Given the description of an element on the screen output the (x, y) to click on. 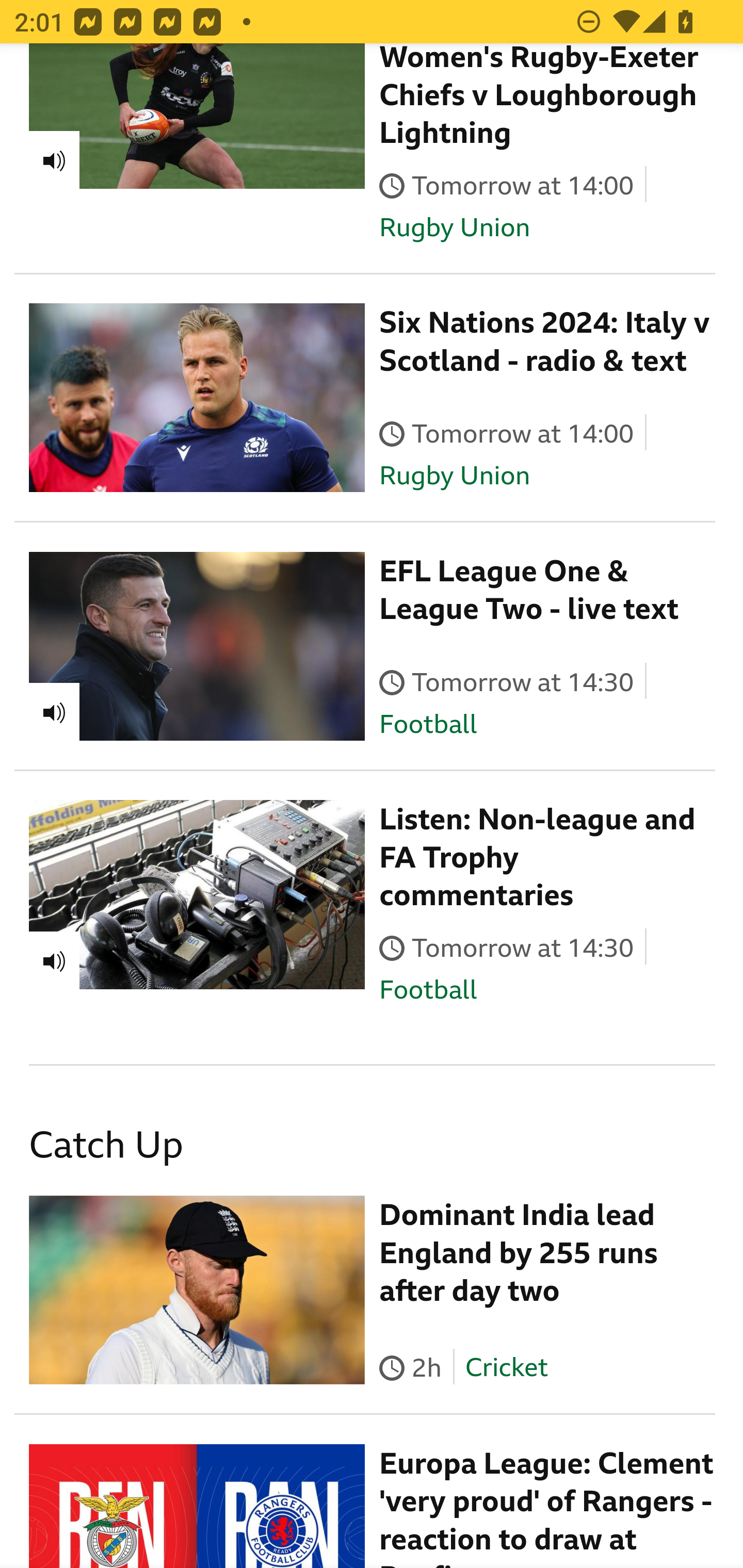
Rugby Union (454, 229)
Six Nations 2024: Italy v Scotland - radio & text (544, 344)
Rugby Union (454, 477)
EFL League One & League Two - live text (529, 592)
Football (428, 724)
Listen: Non-league and FA Trophy commentaries (537, 858)
Football (428, 990)
Cricket (506, 1367)
